Given the description of an element on the screen output the (x, y) to click on. 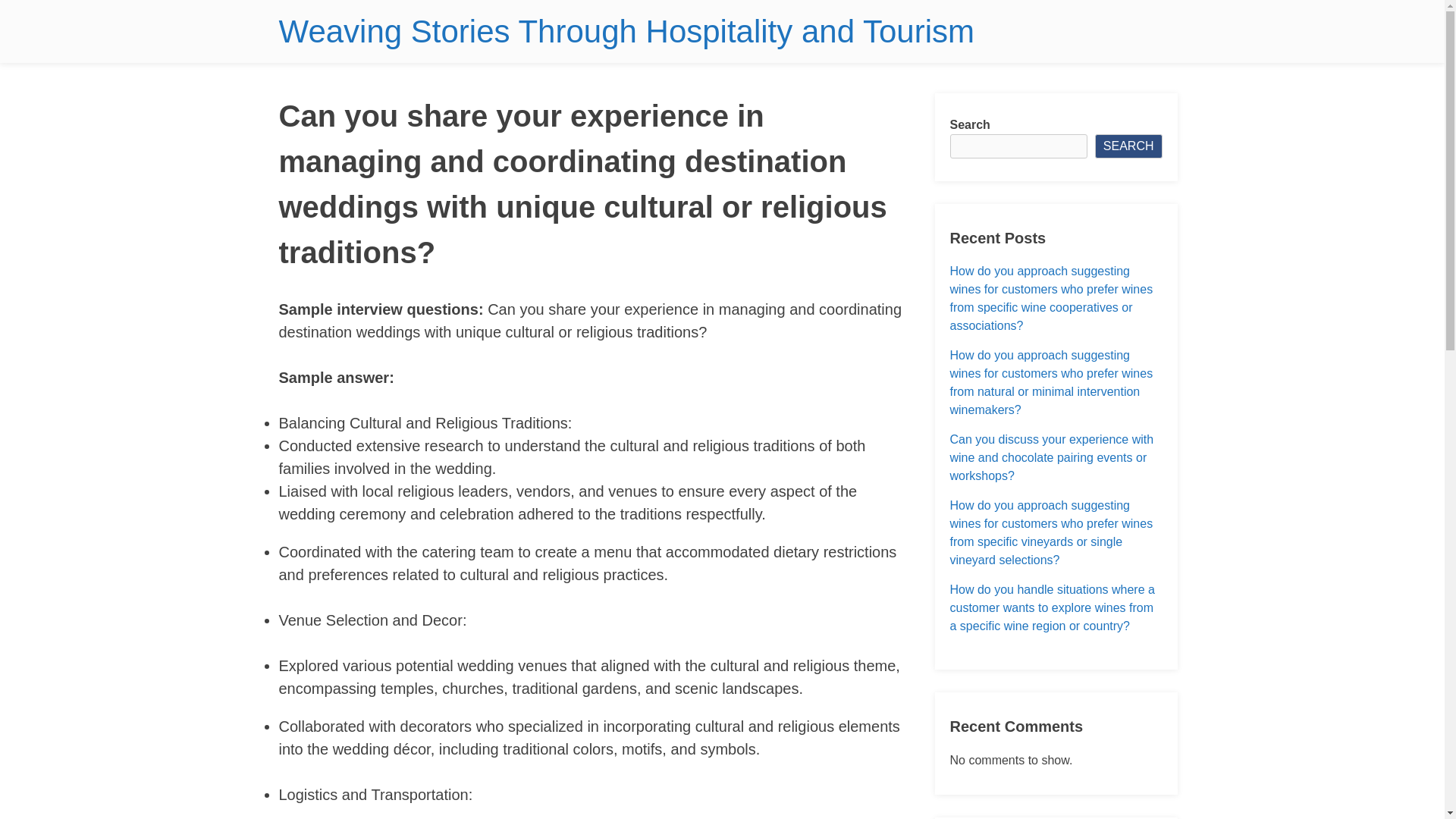
Weaving Stories Through Hospitality and Tourism (626, 31)
SEARCH (1127, 146)
